Given the description of an element on the screen output the (x, y) to click on. 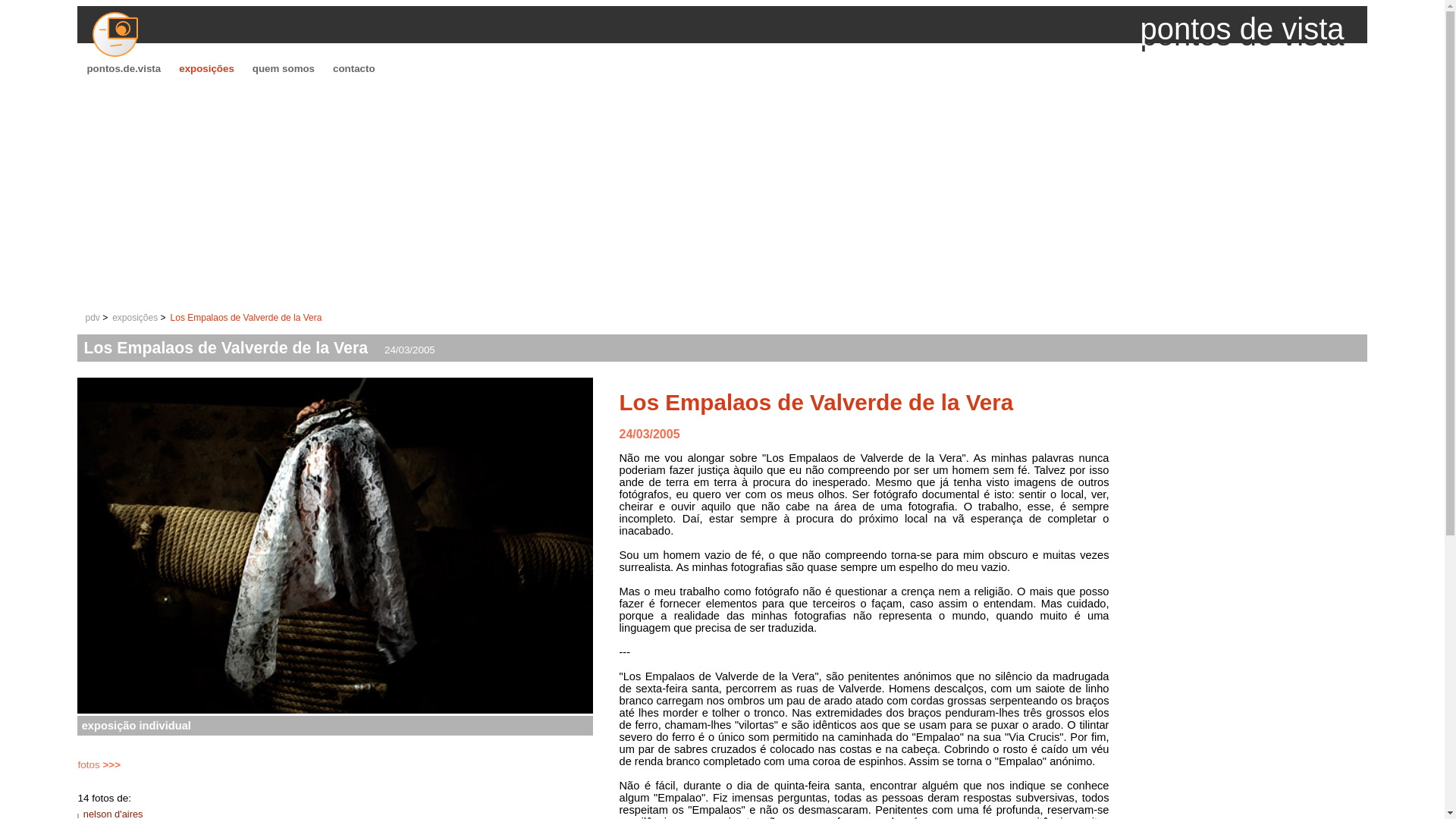
pdv (91, 317)
quem somos (283, 68)
Los Empalaos de Valverde de la Vera (815, 401)
nelson d'aires (112, 813)
pontos.de.vista (123, 68)
Los Empalaos de Valverde de la Vera (245, 317)
contacto (353, 68)
